Given the description of an element on the screen output the (x, y) to click on. 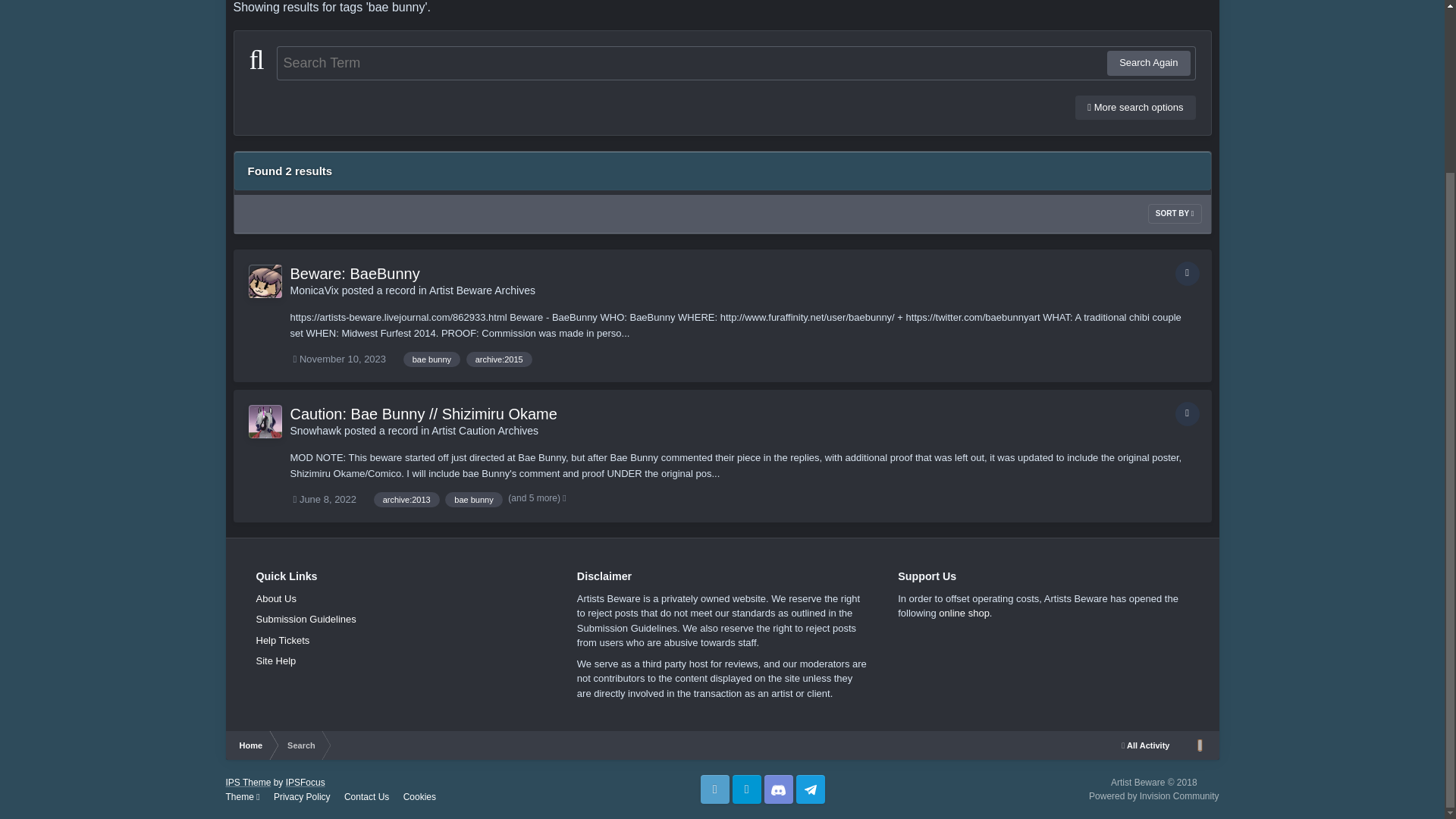
Find other content tagged with 'archive:2015' (498, 359)
Find other content tagged with 'bae bunny' (473, 499)
Find other content tagged with 'archive:2013' (406, 499)
Go to MonicaVix's profile (265, 281)
Record (1186, 273)
Go to Snowhawk's profile (265, 421)
Go to Snowhawk's profile (314, 430)
Go to MonicaVix's profile (313, 290)
Record (1186, 413)
Find other content tagged with 'bae bunny' (431, 359)
